Given the description of an element on the screen output the (x, y) to click on. 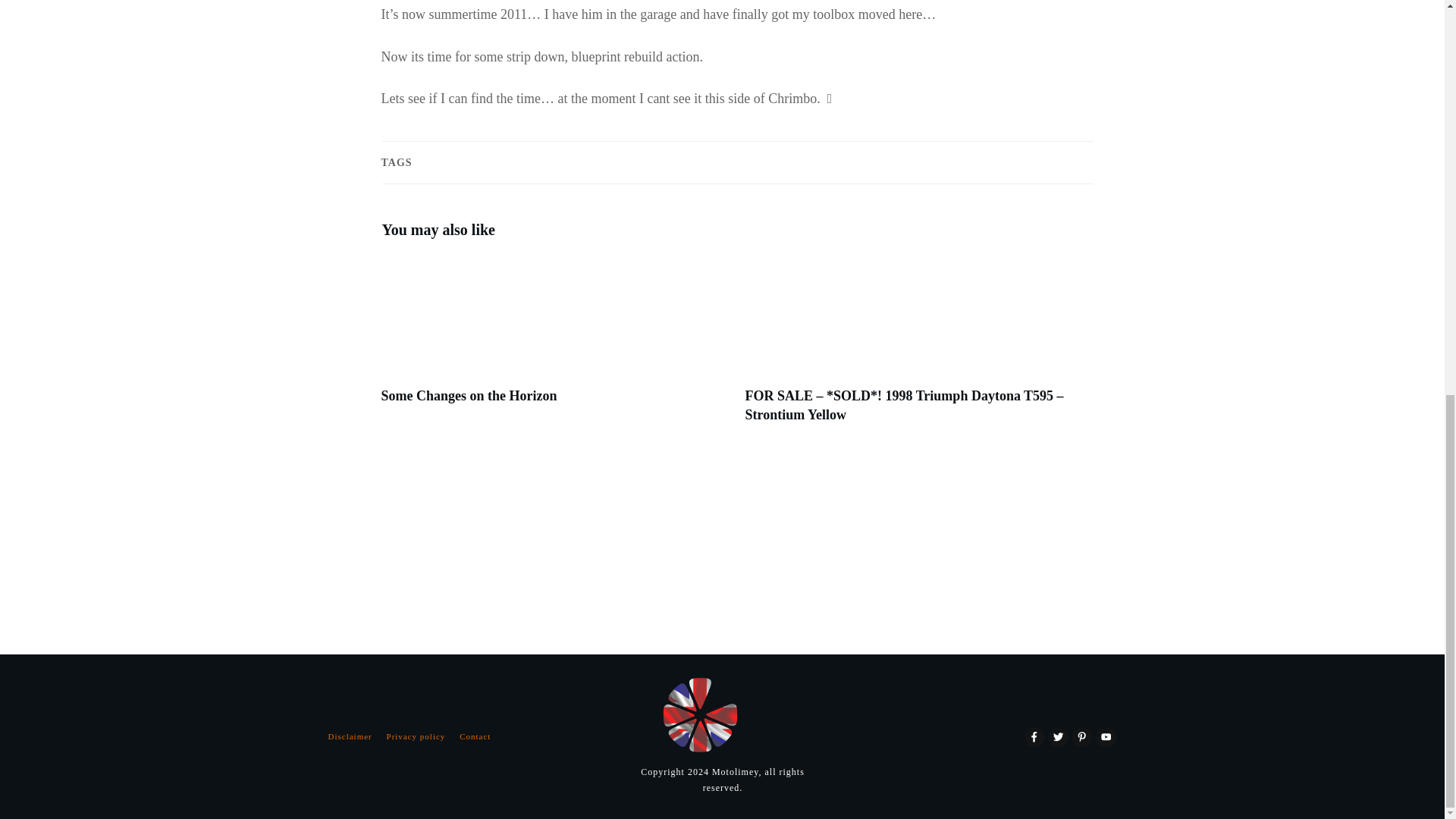
Some Changes on the Horizon (554, 347)
Privacy policy (416, 736)
Contact (475, 736)
Some Changes on the Horizon (468, 395)
Some Changes on the Horizon (468, 395)
Disclaimer (349, 736)
